Given the description of an element on the screen output the (x, y) to click on. 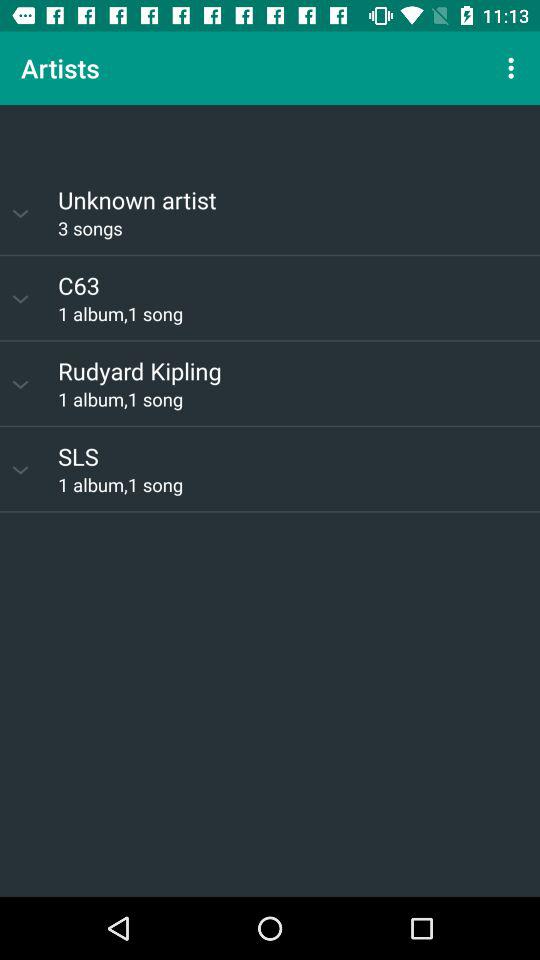
launch the icon to the right of the artists (513, 67)
